Given the description of an element on the screen output the (x, y) to click on. 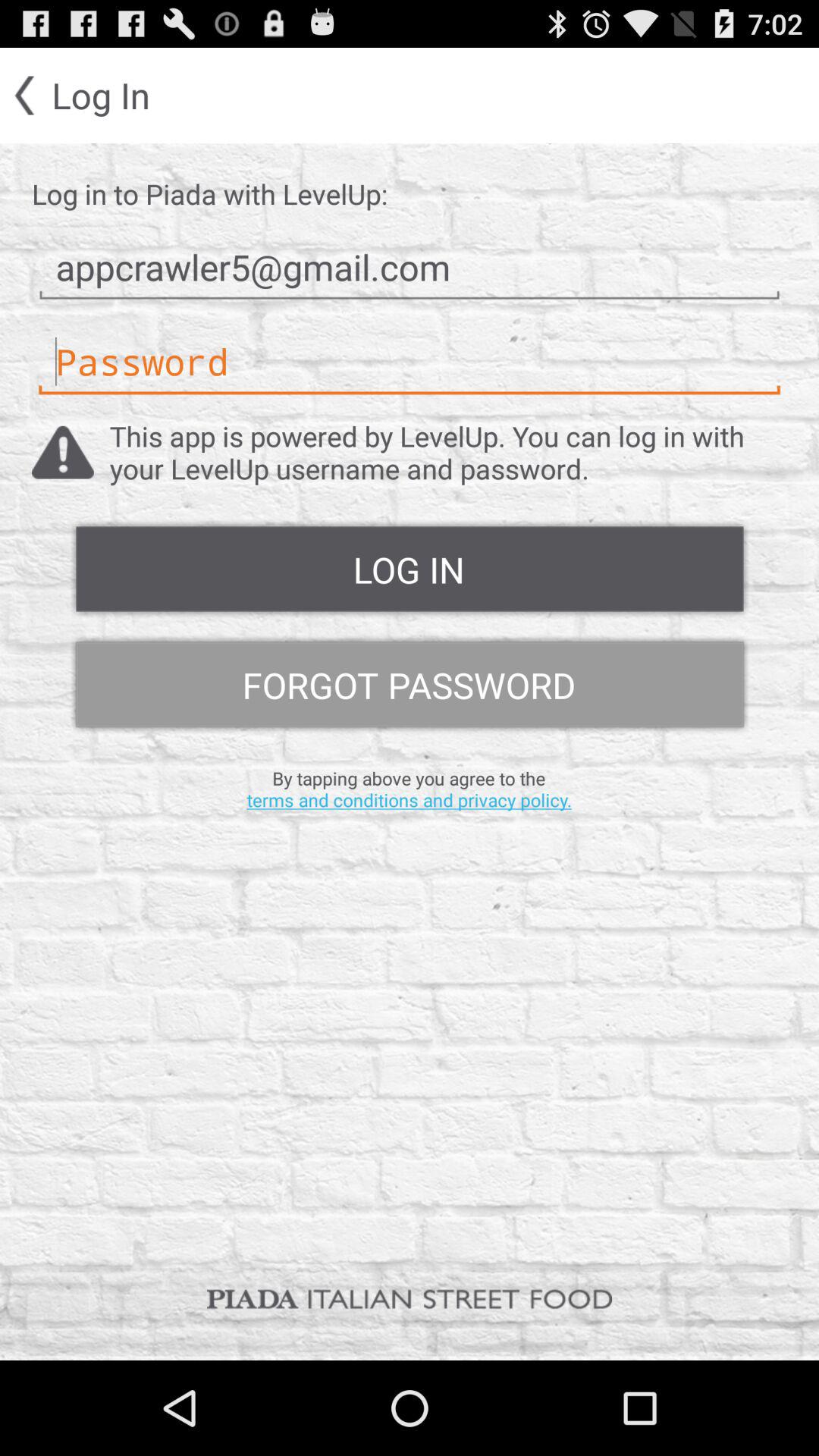
password field (409, 362)
